Given the description of an element on the screen output the (x, y) to click on. 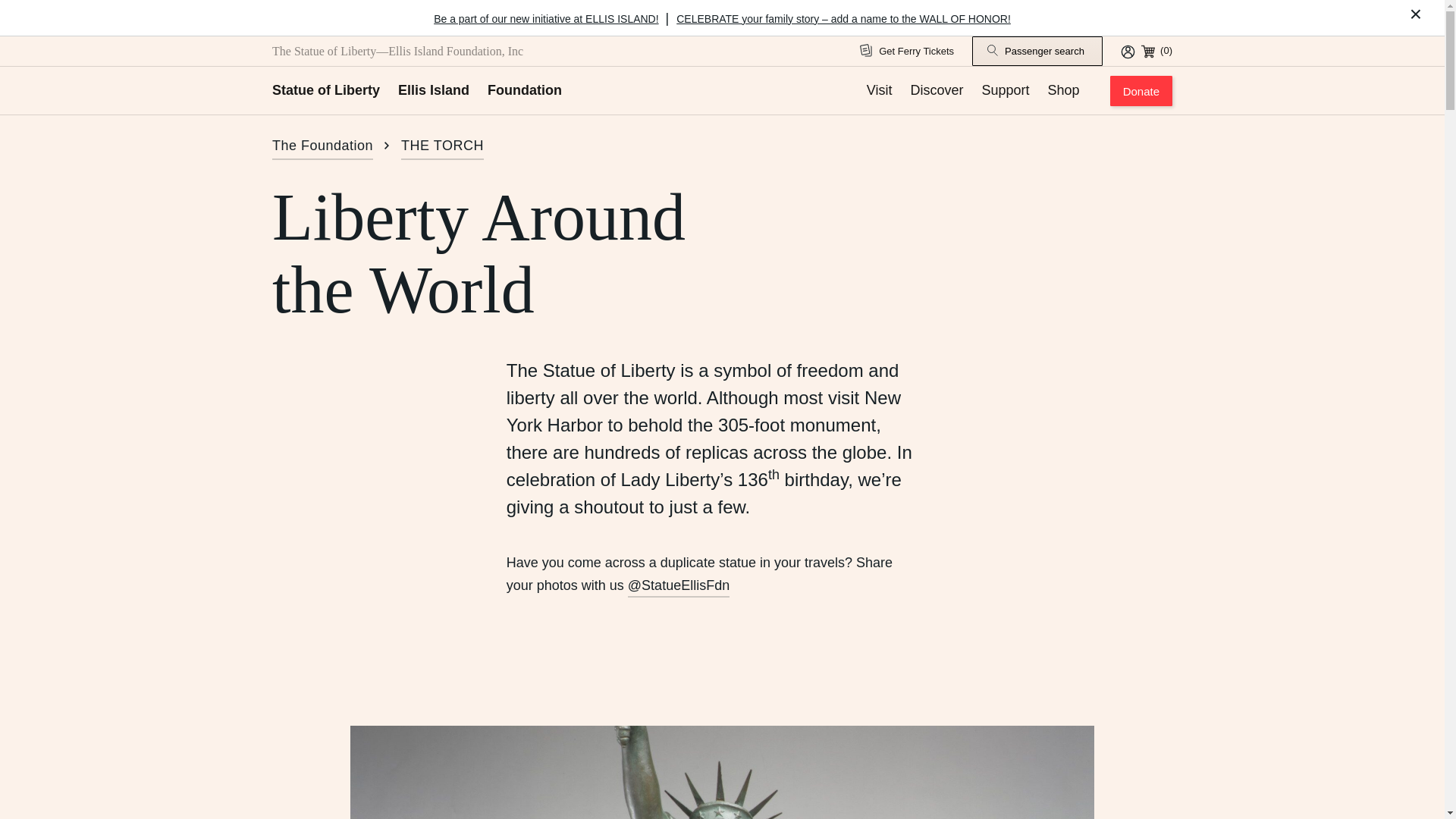
Foundation (524, 90)
Get Ferry Tickets (906, 51)
Statue of Liberty (326, 90)
Get Ferry Tickets (906, 51)
Statue of Liberty (326, 90)
Ellis Island (432, 90)
Discover (937, 90)
Be a part of our new initiative at ELLIS ISLAND! (546, 18)
Ellis Island (432, 90)
Foundation (524, 90)
